Given the description of an element on the screen output the (x, y) to click on. 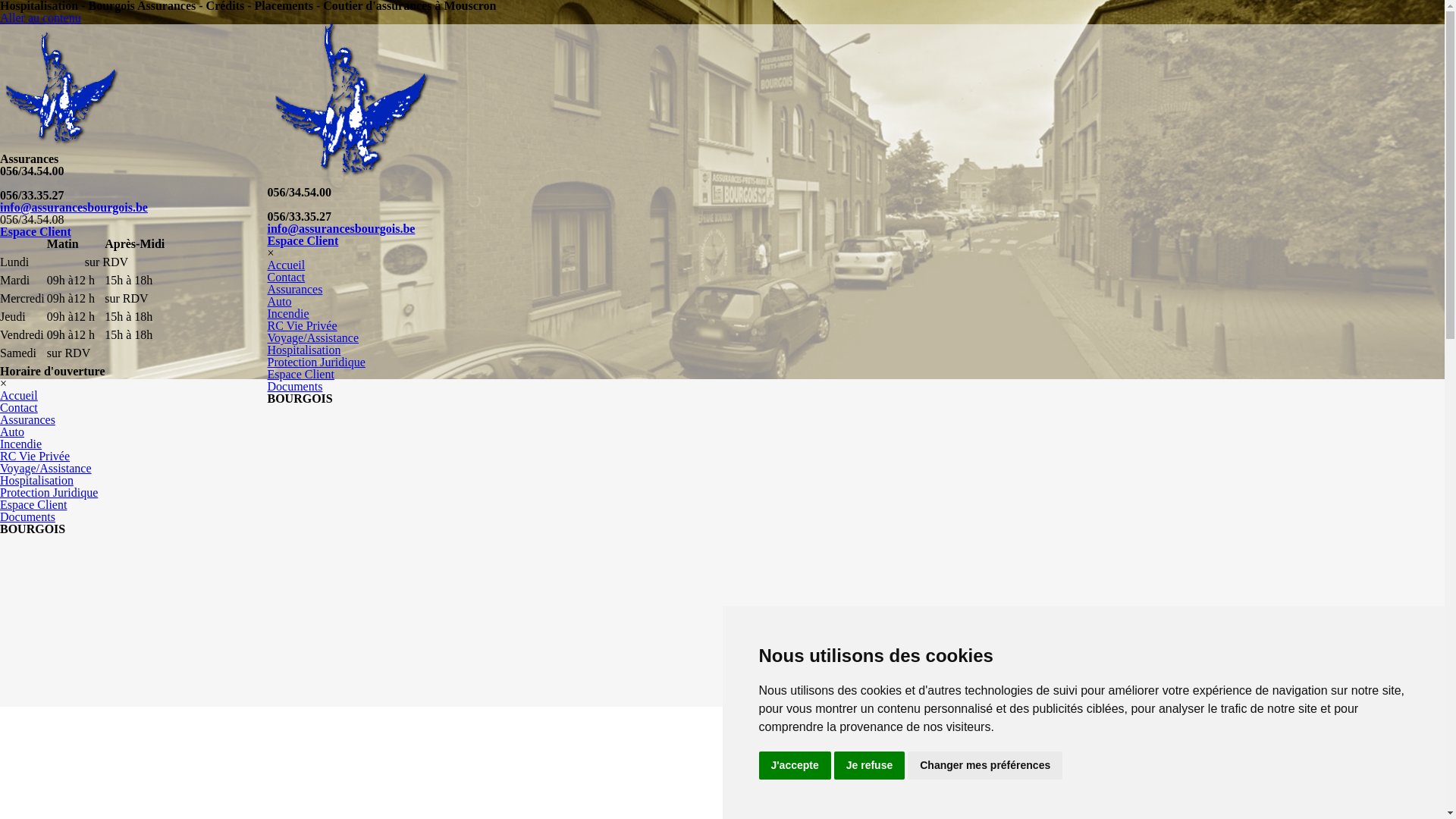
Assurances Element type: text (294, 288)
Je refuse Element type: text (869, 765)
Accueil Element type: text (18, 395)
Assurances Element type: text (27, 419)
Espace Client Element type: text (299, 373)
Incendie Element type: text (287, 313)
Contact Element type: text (285, 276)
Aller au contenu Element type: text (40, 17)
Espace Client Element type: text (302, 240)
J'accepte Element type: text (794, 765)
Documents Element type: text (294, 385)
Accueil Element type: text (285, 264)
Voyage/Assistance Element type: text (45, 467)
info@assurancesbourgois.be Element type: text (340, 228)
Documents Element type: text (27, 516)
info@assurancesbourgois.be Element type: text (73, 206)
Espace Client Element type: text (33, 504)
Incendie Element type: text (20, 443)
Contact Element type: text (18, 407)
Hospitalisation Element type: text (36, 479)
Espace Client Element type: text (35, 231)
Hospitalisation Element type: text (303, 349)
Voyage/Assistance Element type: text (312, 337)
Protection Juridique Element type: text (315, 361)
Protection Juridique Element type: text (48, 492)
Auto Element type: text (278, 300)
Auto Element type: text (12, 431)
